Given the description of an element on the screen output the (x, y) to click on. 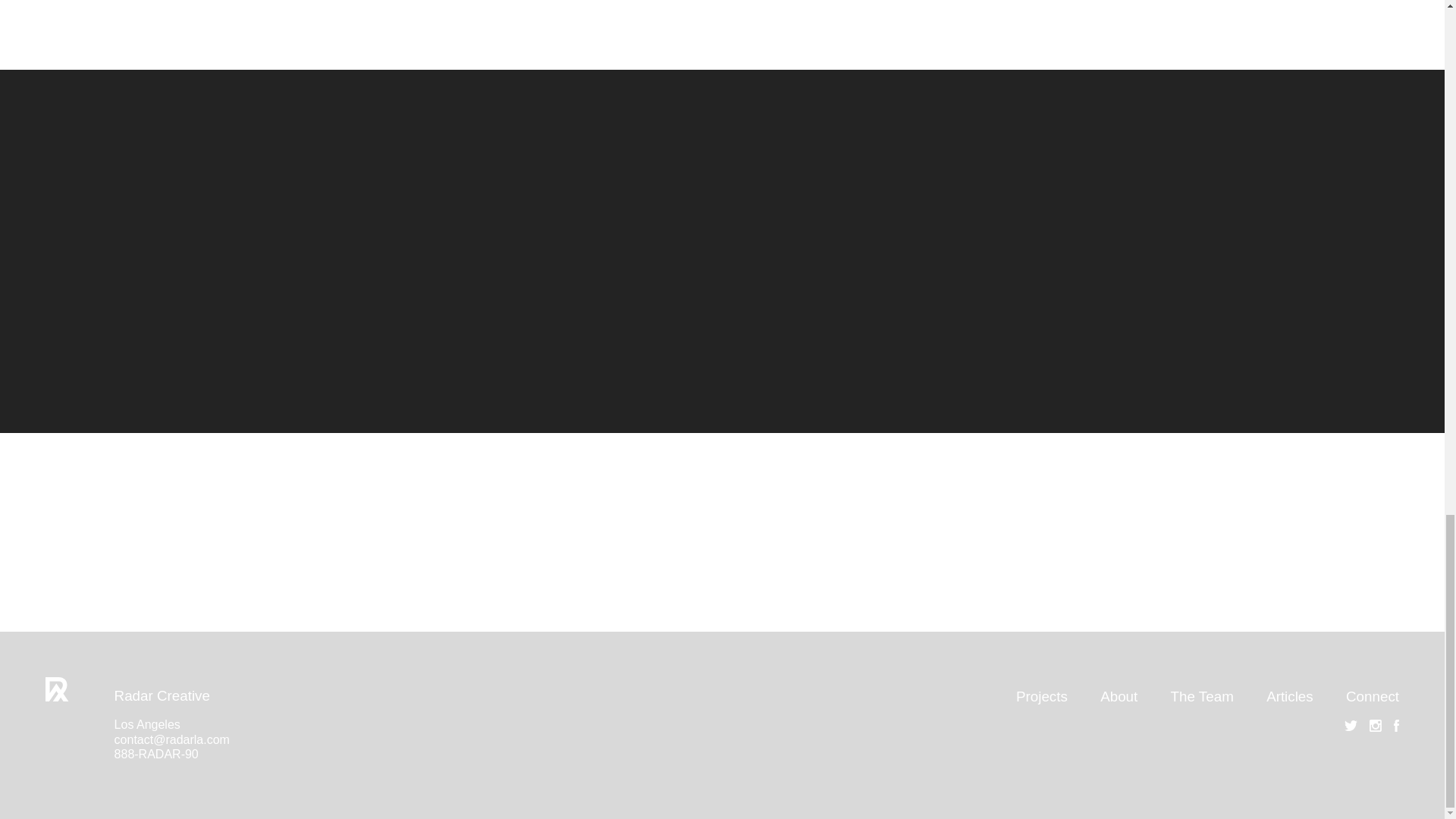
Projects (1041, 696)
About (1118, 696)
Articles (1289, 696)
888-RADAR-90 (156, 753)
The Team (1201, 696)
Connect (1372, 696)
